Given the description of an element on the screen output the (x, y) to click on. 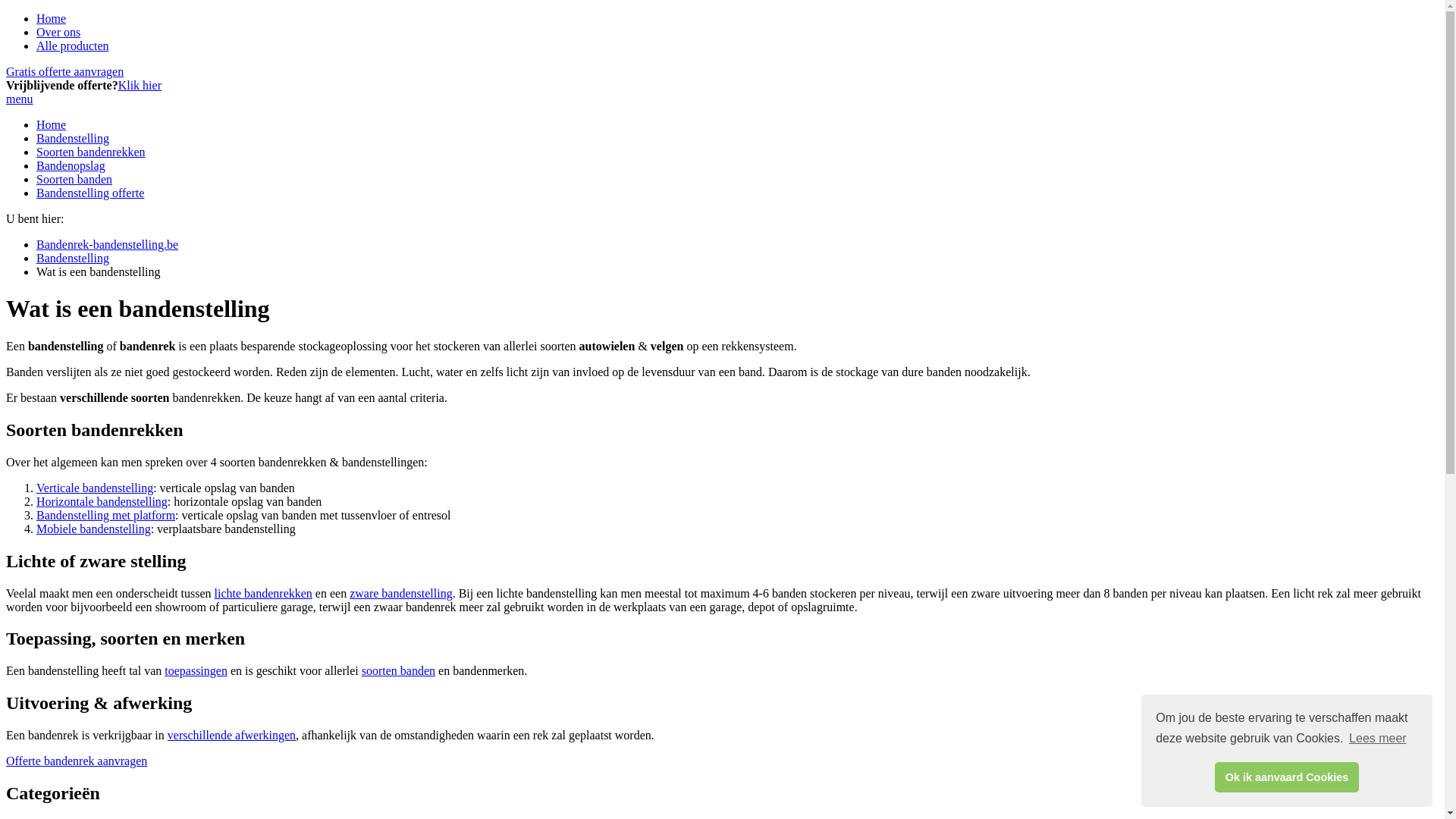
Lees meer Element type: text (1377, 738)
menu Element type: text (19, 98)
Bandenstelling met platform Element type: text (105, 514)
Home Element type: text (50, 124)
Bandenstelling Element type: text (72, 257)
Bandenstelling offerte Element type: text (90, 192)
Over ons Element type: text (58, 31)
Ok ik aanvaard Cookies Element type: text (1286, 777)
Bandenrek-bandenstelling.be Element type: text (107, 244)
Klik hier Element type: text (139, 84)
Soorten banden Element type: text (74, 178)
zware bandenstelling Element type: text (400, 592)
Alle producten Element type: text (72, 45)
Mobiele bandenstelling Element type: text (93, 528)
Offerte bandenrek aanvragen Element type: text (76, 760)
lichte bandenrekken Element type: text (263, 592)
Horizontale bandenstelling Element type: text (101, 501)
toepassingen Element type: text (195, 670)
Home Element type: text (50, 18)
Verticale bandenstelling Element type: text (94, 487)
Bandenstelling Element type: text (72, 137)
soorten banden Element type: text (398, 670)
Bandenopslag Element type: text (70, 165)
verschillende afwerkingen Element type: text (231, 734)
Gratis offerte aanvragen Element type: text (64, 71)
Soorten bandenrekken Element type: text (90, 151)
